Given the description of an element on the screen output the (x, y) to click on. 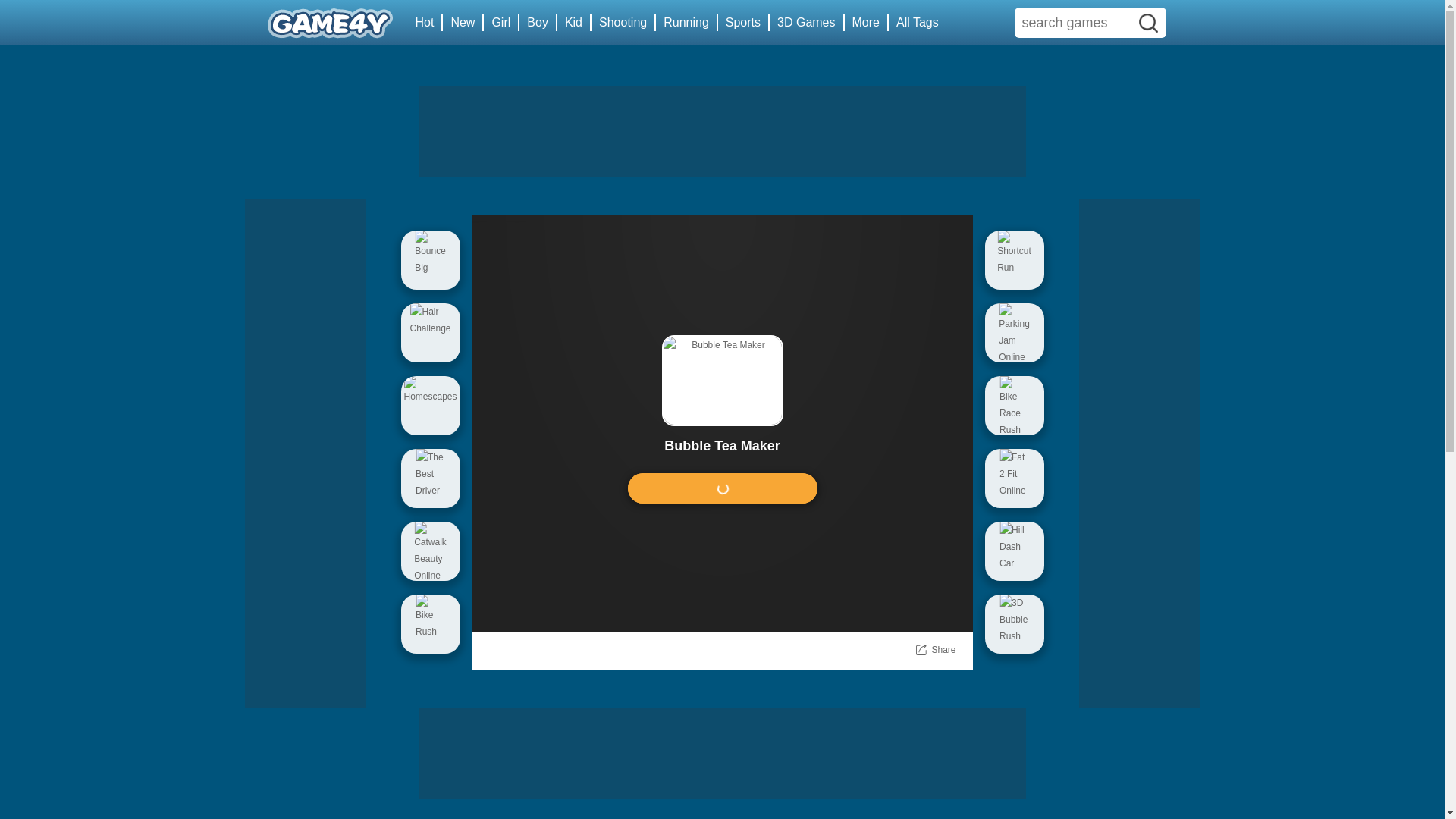
Bike Race Rush (1013, 404)
3D Games (807, 22)
Catwalk Beauty Online (430, 550)
Play Game (721, 488)
All Tags (917, 22)
Shortcut Run (1013, 259)
Bounce Big (430, 259)
Boy (538, 22)
Play Bubble Tea Maker Game (721, 488)
Share (943, 649)
Hill Dash Car (1013, 550)
Fat 2 Fit Online (1013, 477)
Bike Rush (430, 623)
Sports (743, 22)
The Best Driver (430, 477)
